Given the description of an element on the screen output the (x, y) to click on. 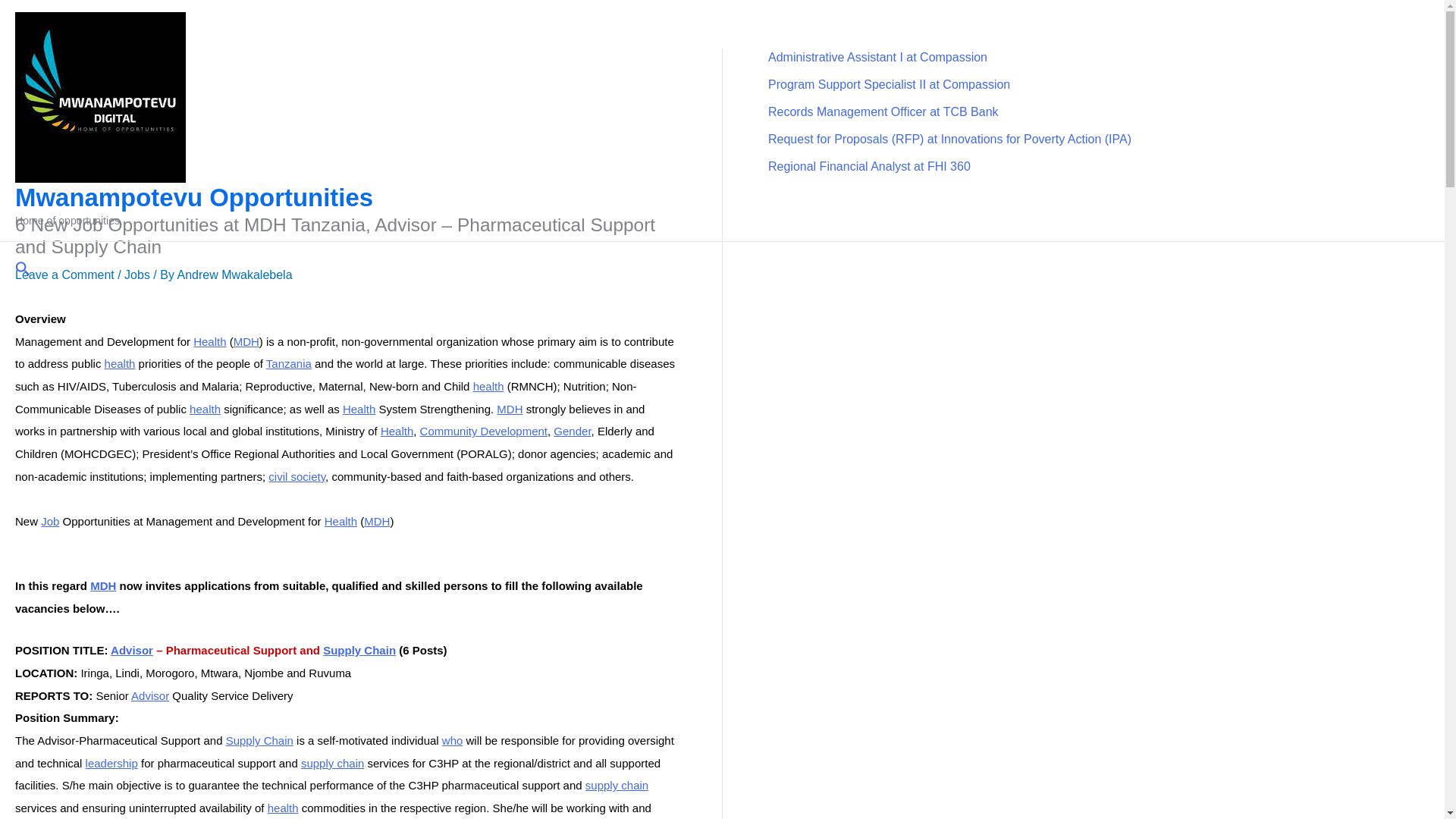
View all posts by Andrew Mwakalebela (234, 274)
Mwanampotevu Opportunities (193, 197)
